Given the description of an element on the screen output the (x, y) to click on. 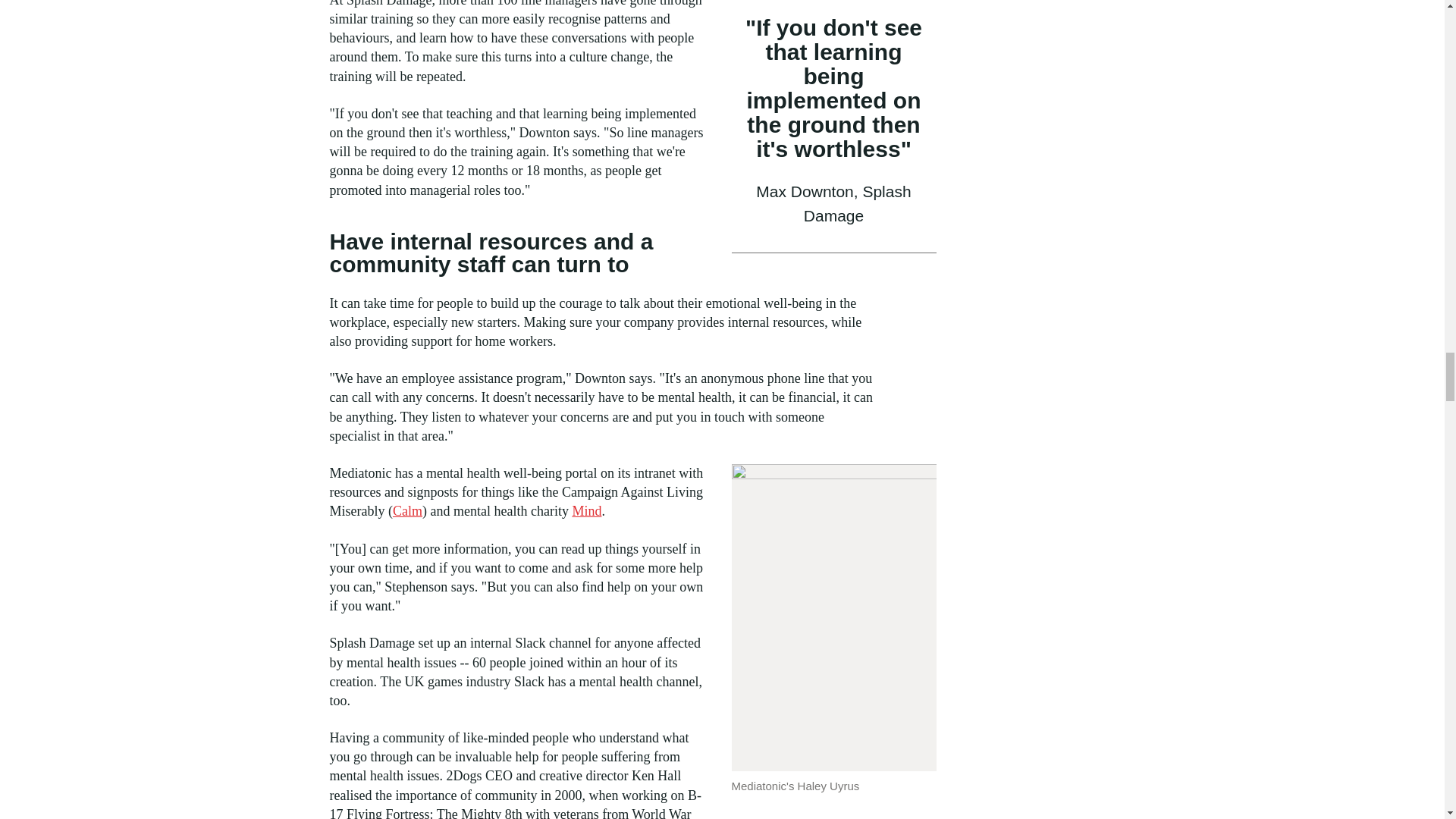
Mind (586, 510)
Calm (407, 510)
